Given the description of an element on the screen output the (x, y) to click on. 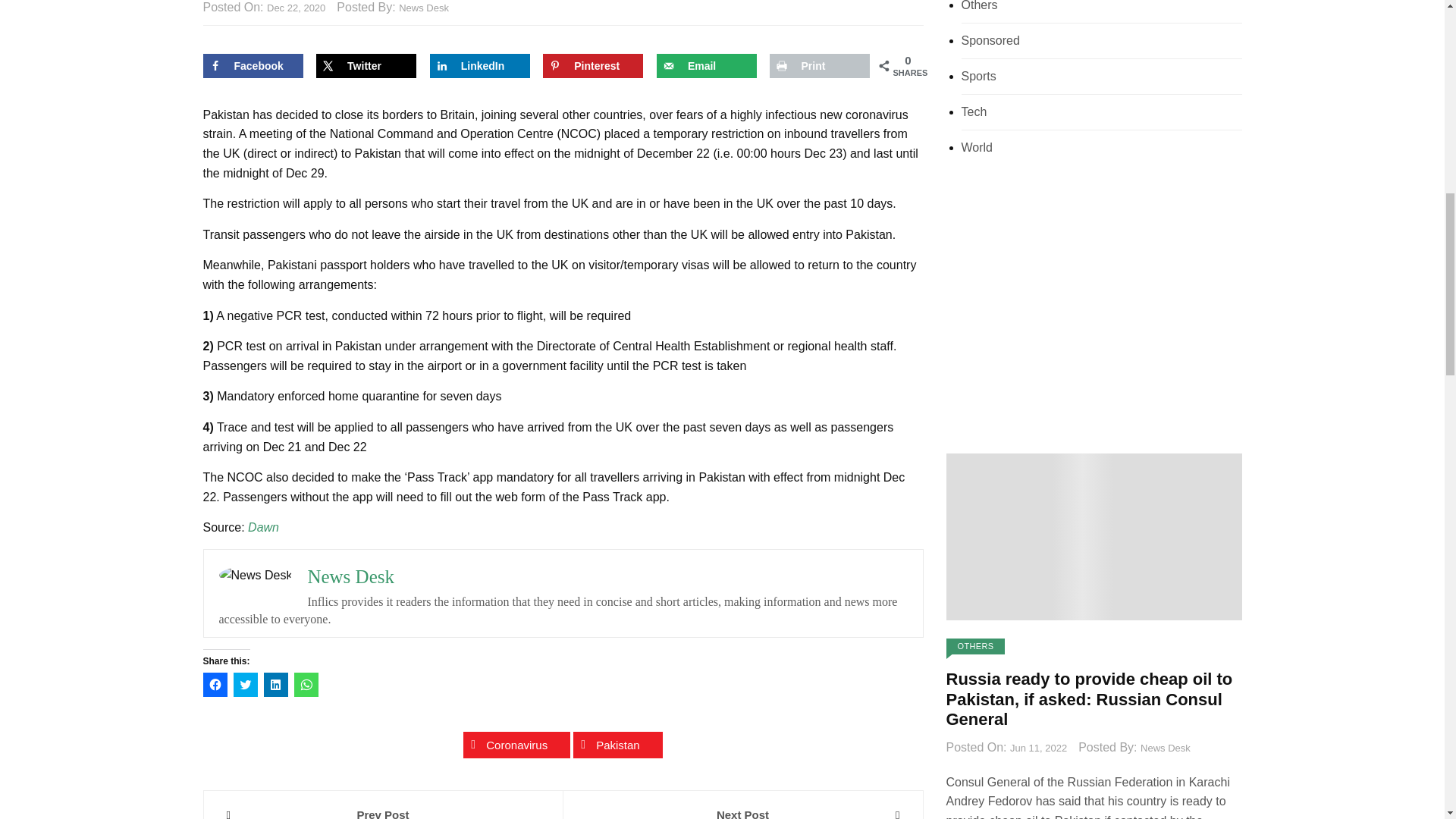
Click to share on LinkedIn (275, 684)
Facebook (252, 65)
Click to share on Facebook (215, 684)
Pinterest (593, 65)
Prev Post (381, 812)
Pakistan (617, 745)
Coronavirus (516, 745)
News Desk (423, 8)
Twitter (365, 65)
Email (706, 65)
